Given the description of an element on the screen output the (x, y) to click on. 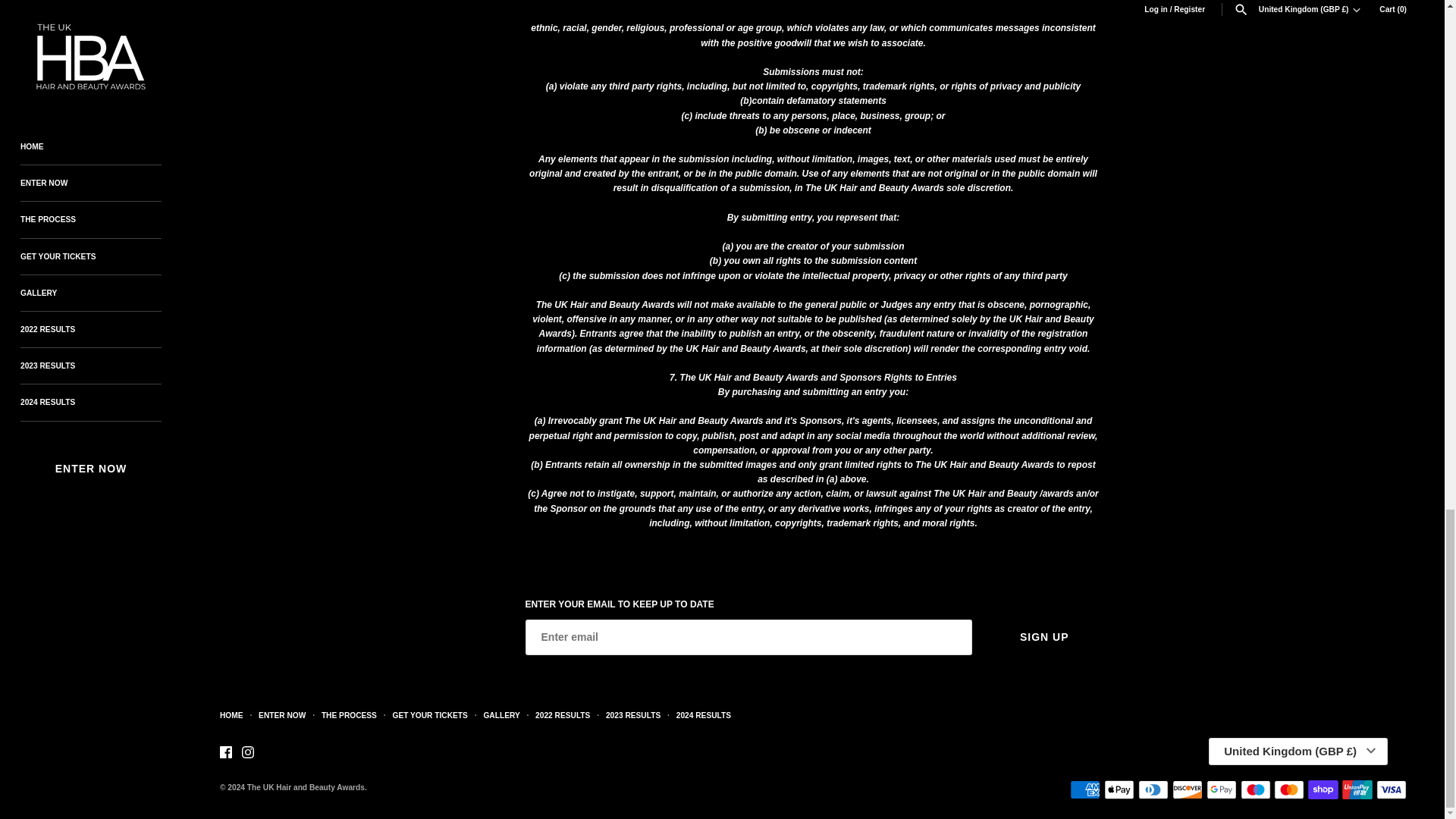
Maestro (1255, 789)
Mastercard (1289, 789)
Visa (1390, 789)
Apple Pay (1118, 789)
Union Pay (1357, 789)
Facebook (225, 752)
American Express (1085, 789)
Shop Pay (1322, 789)
Diners Club (1153, 789)
Google Pay (1221, 789)
